Given the description of an element on the screen output the (x, y) to click on. 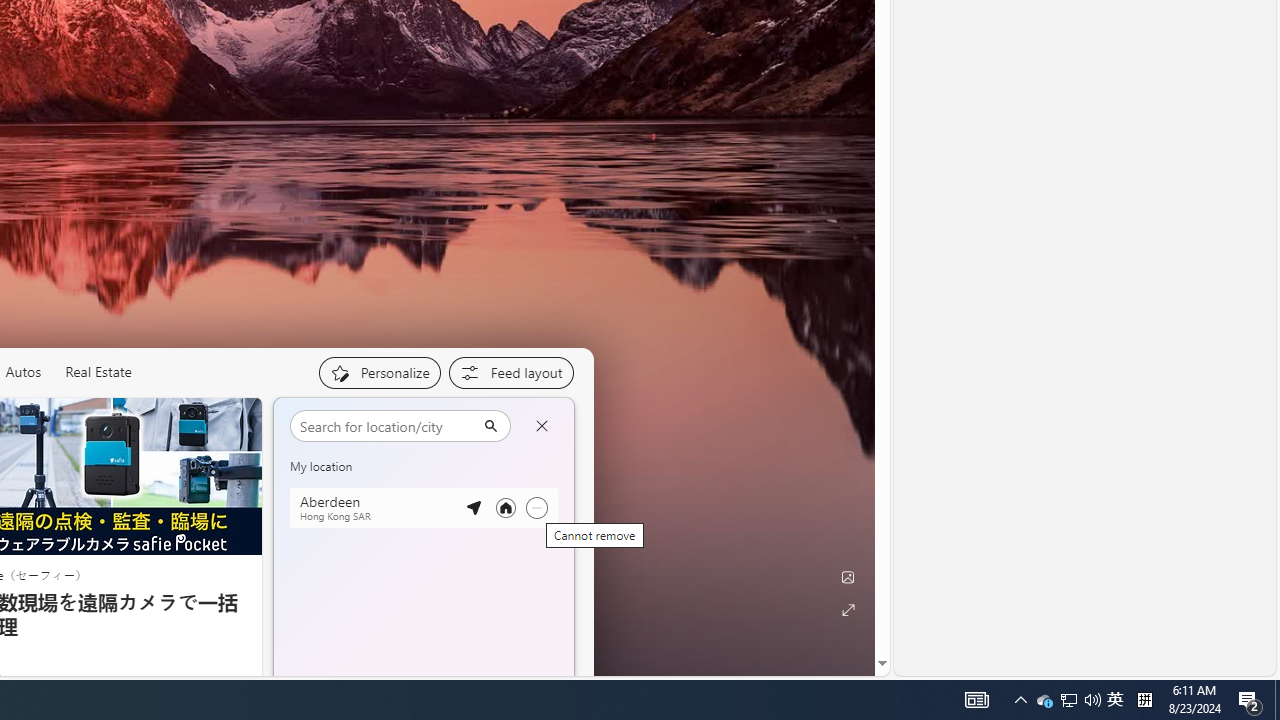
next (563, 549)
Autos (22, 371)
Mostly sunny (311, 474)
Set as your primary location (505, 507)
Rain showers (532, 585)
Detected location (473, 507)
Edit Background (847, 577)
See full forecast (502, 685)
